Given the description of an element on the screen output the (x, y) to click on. 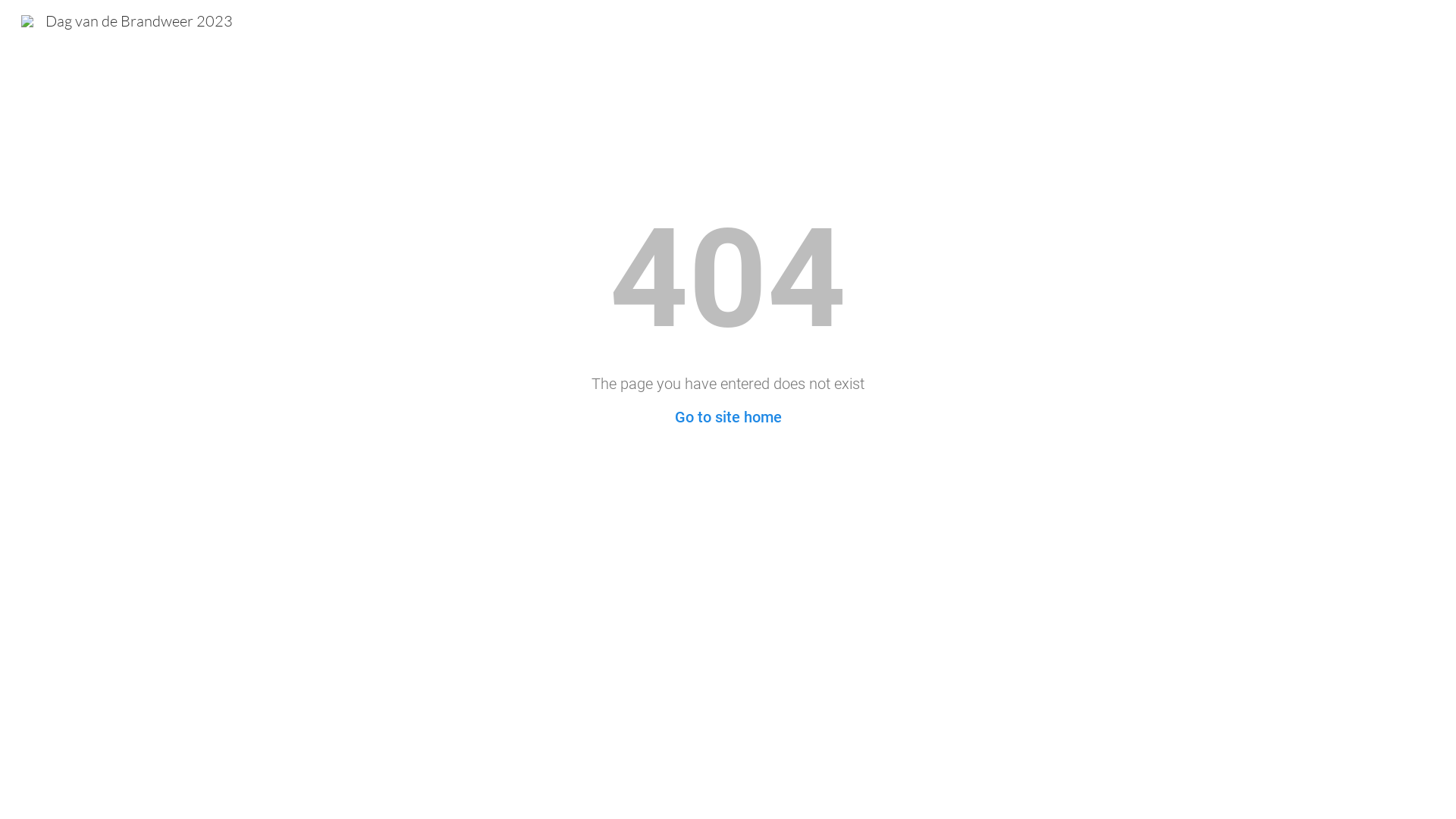
Dag van de Brandweer 2023 Element type: text (126, 18)
Go to site home Element type: text (727, 416)
